Given the description of an element on the screen output the (x, y) to click on. 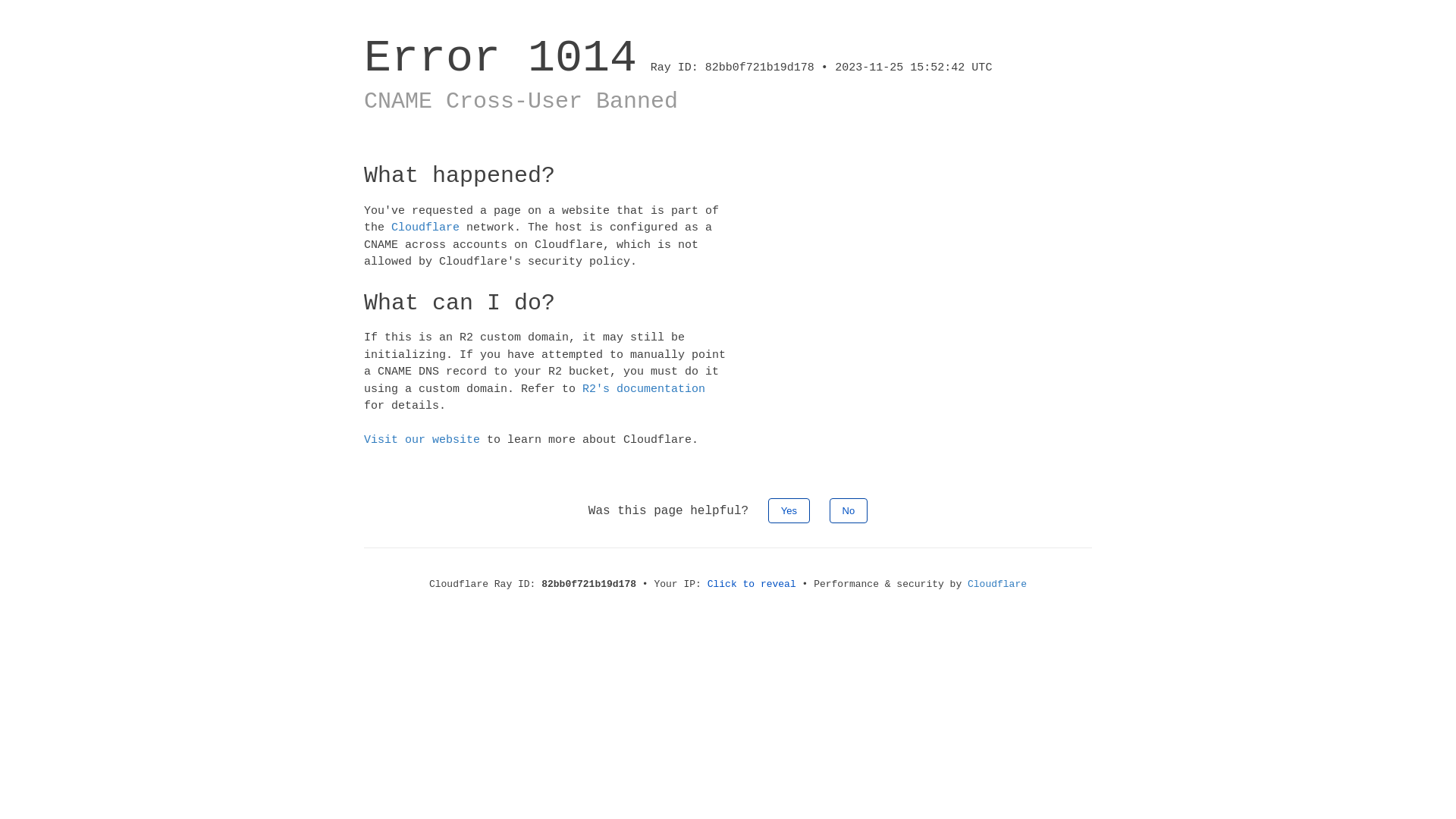
Cloudflare Element type: text (425, 227)
Yes Element type: text (788, 509)
R2's documentation Element type: text (643, 388)
Cloudflare Element type: text (996, 583)
Visit our website Element type: text (422, 439)
No Element type: text (848, 509)
Click to reveal Element type: text (751, 583)
